Given the description of an element on the screen output the (x, y) to click on. 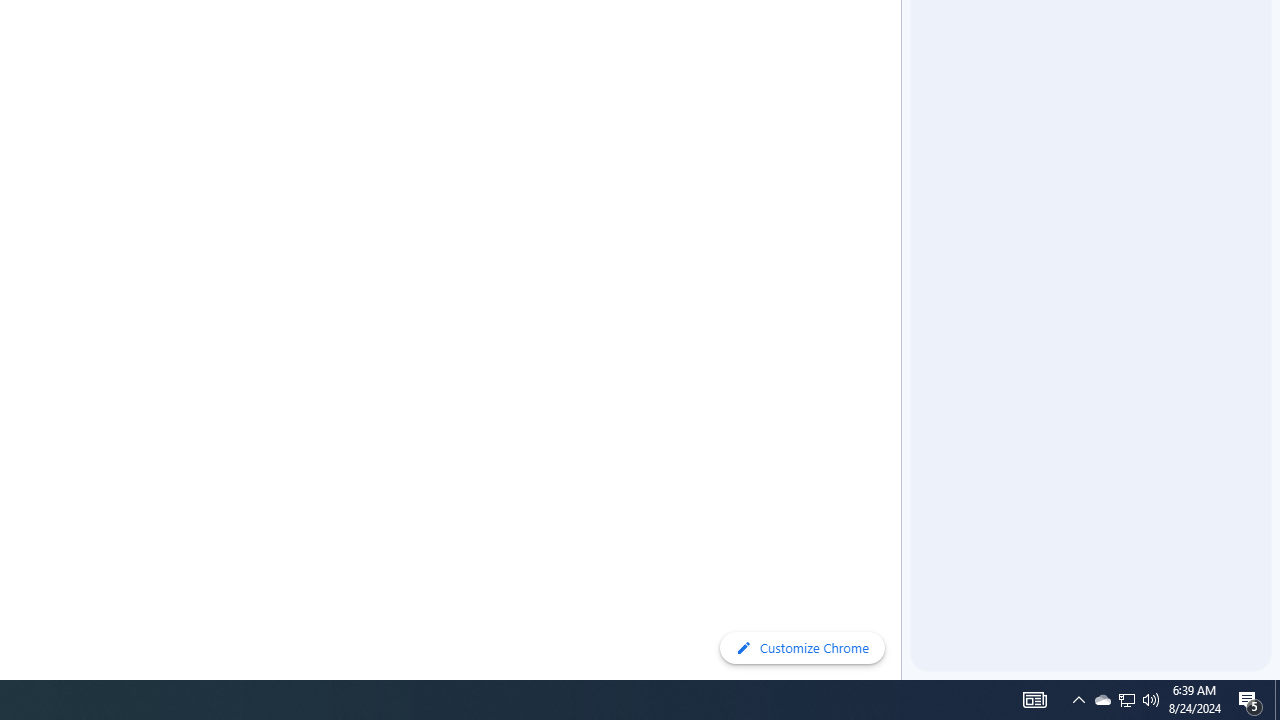
Side Panel Resize Handle (905, 39)
